Given the description of an element on the screen output the (x, y) to click on. 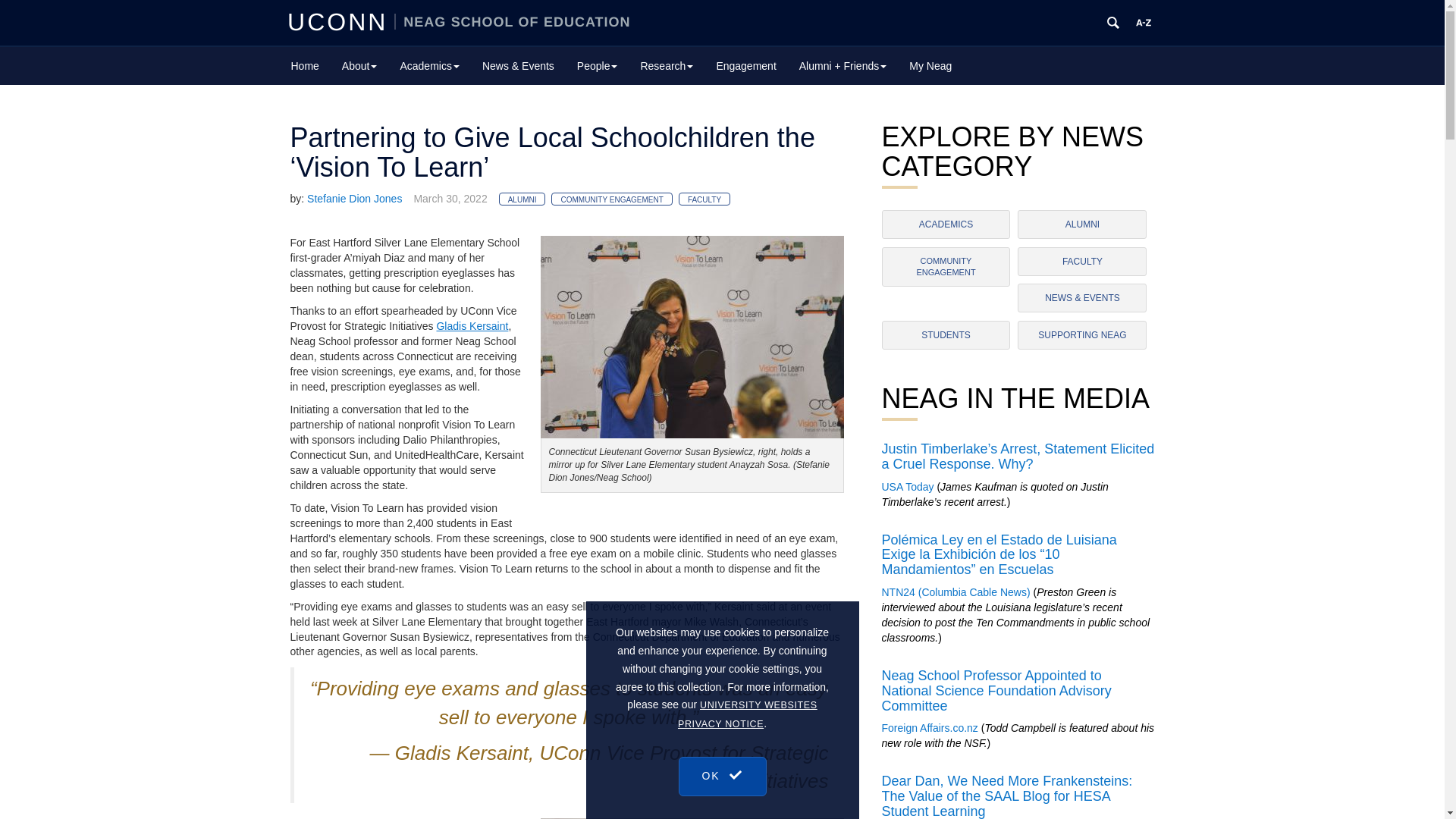
Posts by Stefanie Dion Jones (354, 198)
View all posts in Community Engagement (611, 198)
Academics (429, 65)
NEAG SCHOOL OF EDUCATION (512, 21)
SEARCH UCONN (1112, 22)
UCONN (340, 21)
View all posts in Alumni (522, 198)
Home (304, 65)
UNIVERSITY WEBSITES PRIVACY NOTICE (747, 812)
About (359, 65)
View all posts in Faculty (704, 198)
UCONN A TO Z INDEX (1143, 22)
